Given the description of an element on the screen output the (x, y) to click on. 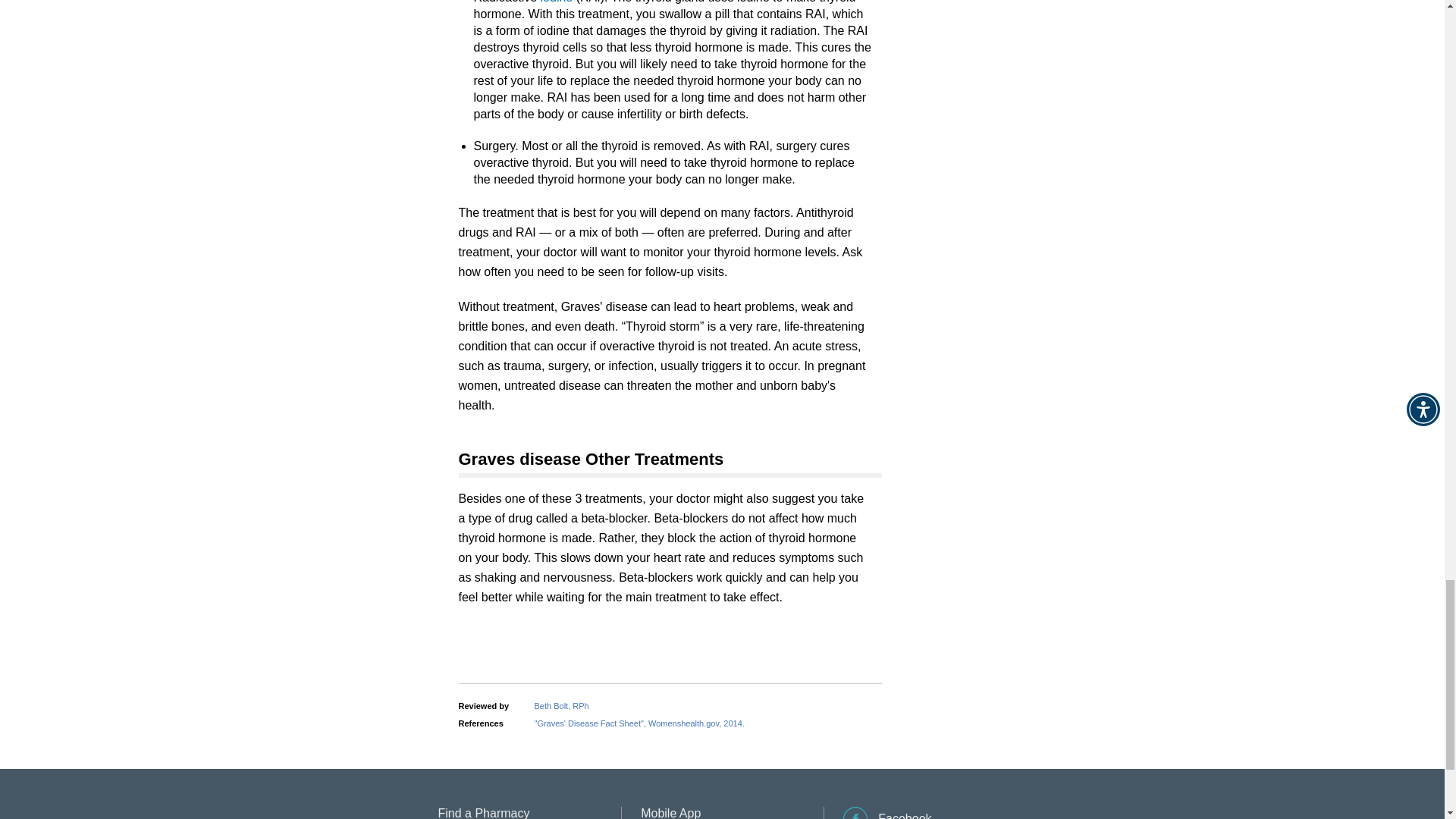
Beth Bolt, RPh (561, 705)
iodine (556, 2)
